Given the description of an element on the screen output the (x, y) to click on. 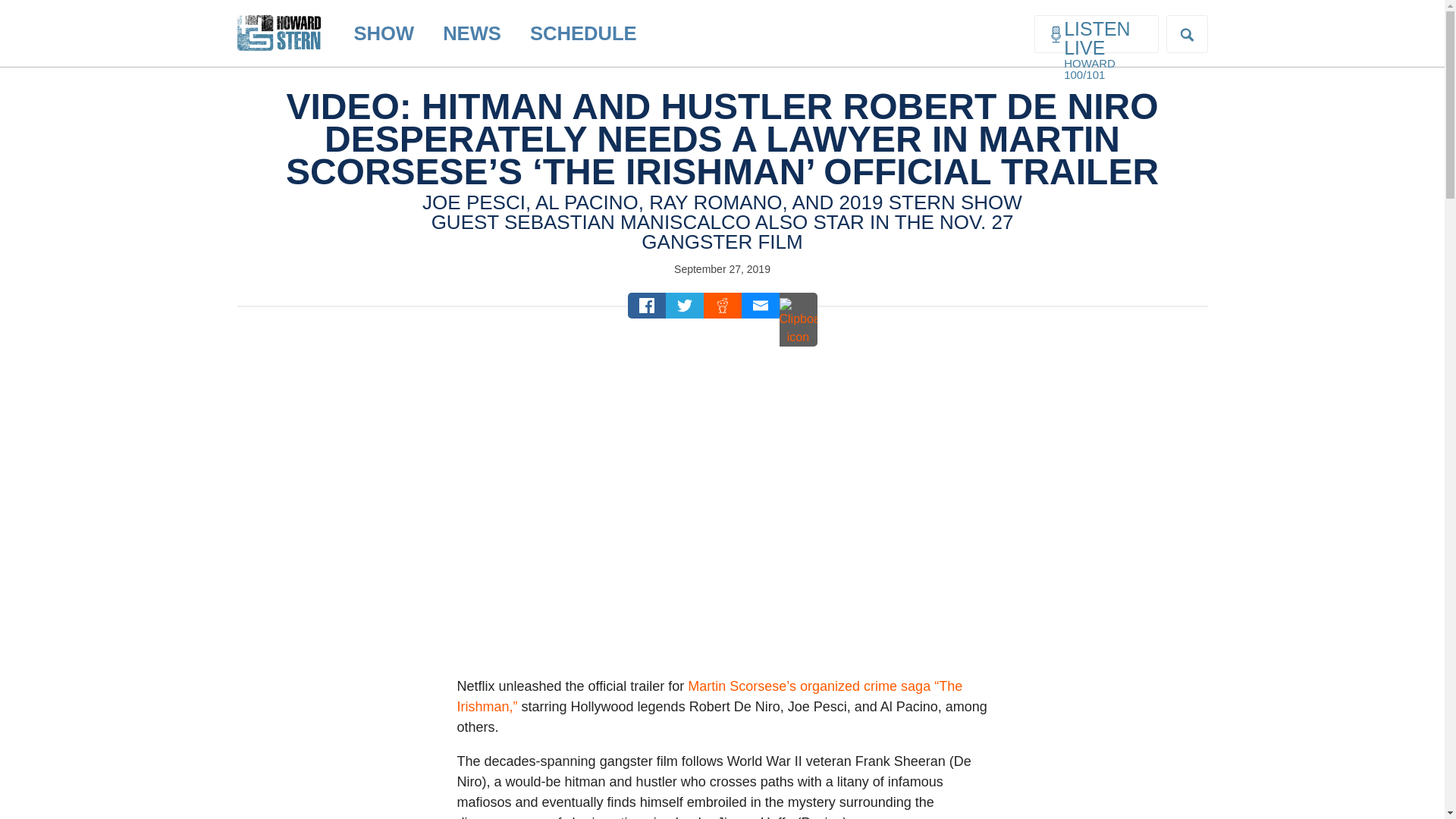
Search (24, 9)
MAGNIFYING GLASS (1187, 34)
SHOW (384, 33)
Howard Stern (277, 20)
NEWS (471, 33)
SCHEDULE (582, 33)
